Given the description of an element on the screen output the (x, y) to click on. 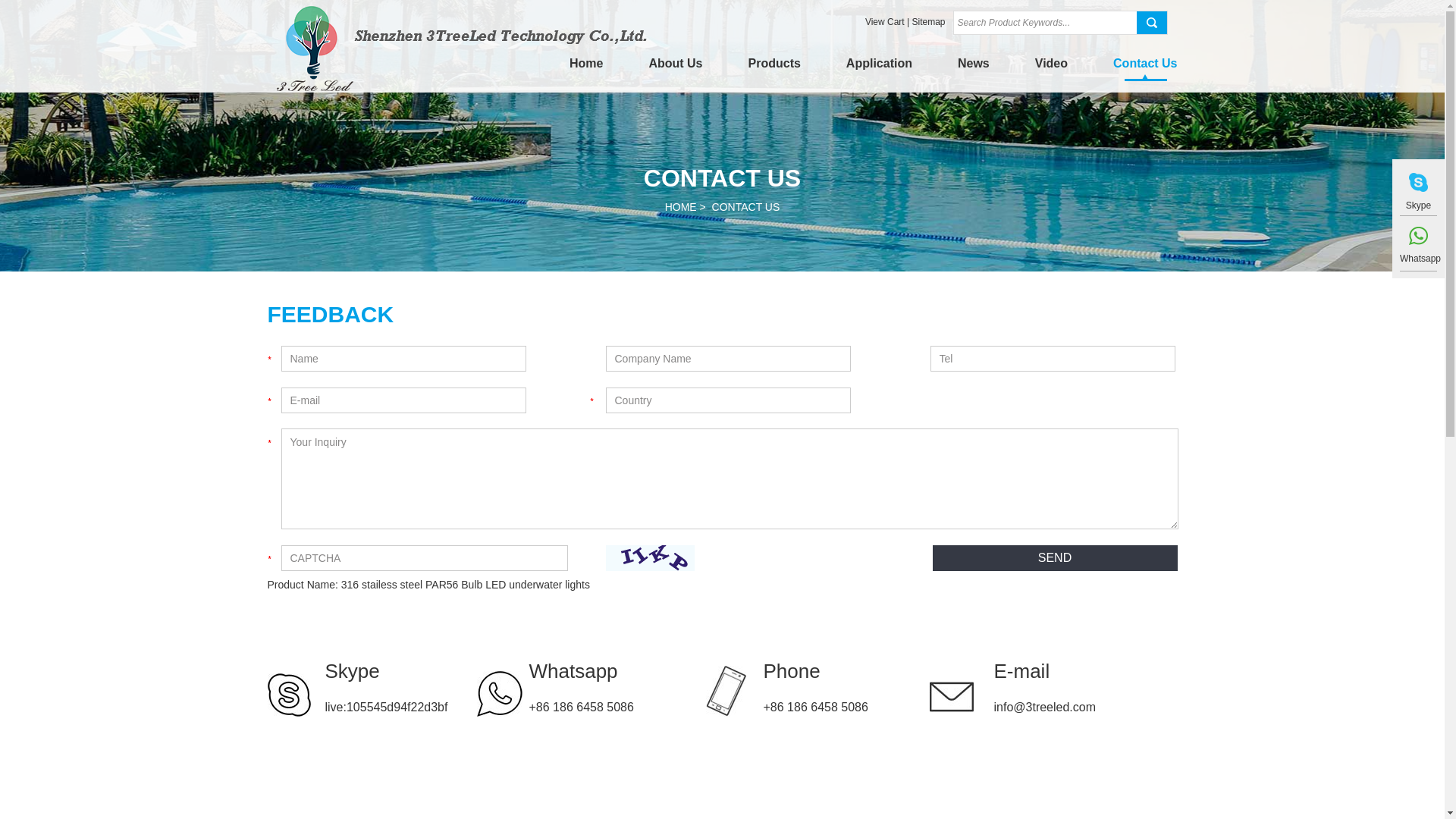
News Element type: text (973, 68)
Sitemap Element type: text (927, 21)
View Cart | Element type: text (888, 21)
Video Element type: text (1051, 68)
About Us Element type: text (675, 68)
Contact Us Element type: text (1144, 68)
send Element type: text (1054, 558)
316 stailess steel PAR56 Bulb LED underwater lights Element type: text (465, 584)
info@3treeled.com Element type: text (1044, 706)
Shenzhen 3TreeLed Technology Co.,Ltd. Element type: hover (460, 48)
Products Element type: text (774, 68)
Shenzhen 3TreeLed Technology Co.,Ltd. Element type: hover (460, 87)
+86 186 6458 5086 Element type: text (581, 706)
Skype Element type: text (1418, 198)
Phone Element type: text (826, 670)
CONTACT US Element type: text (746, 206)
Whatsapp Element type: text (591, 670)
E-mail Element type: text (1084, 670)
HOME Element type: text (680, 206)
Skype Element type: text (388, 670)
live:105545d94f22d3bf Element type: hover (1417, 181)
live:105545d94f22d3bf Element type: text (385, 706)
Home Element type: text (585, 68)
Application Element type: text (879, 68)
Whatsapp Element type: text (1418, 251)
